Given the description of an element on the screen output the (x, y) to click on. 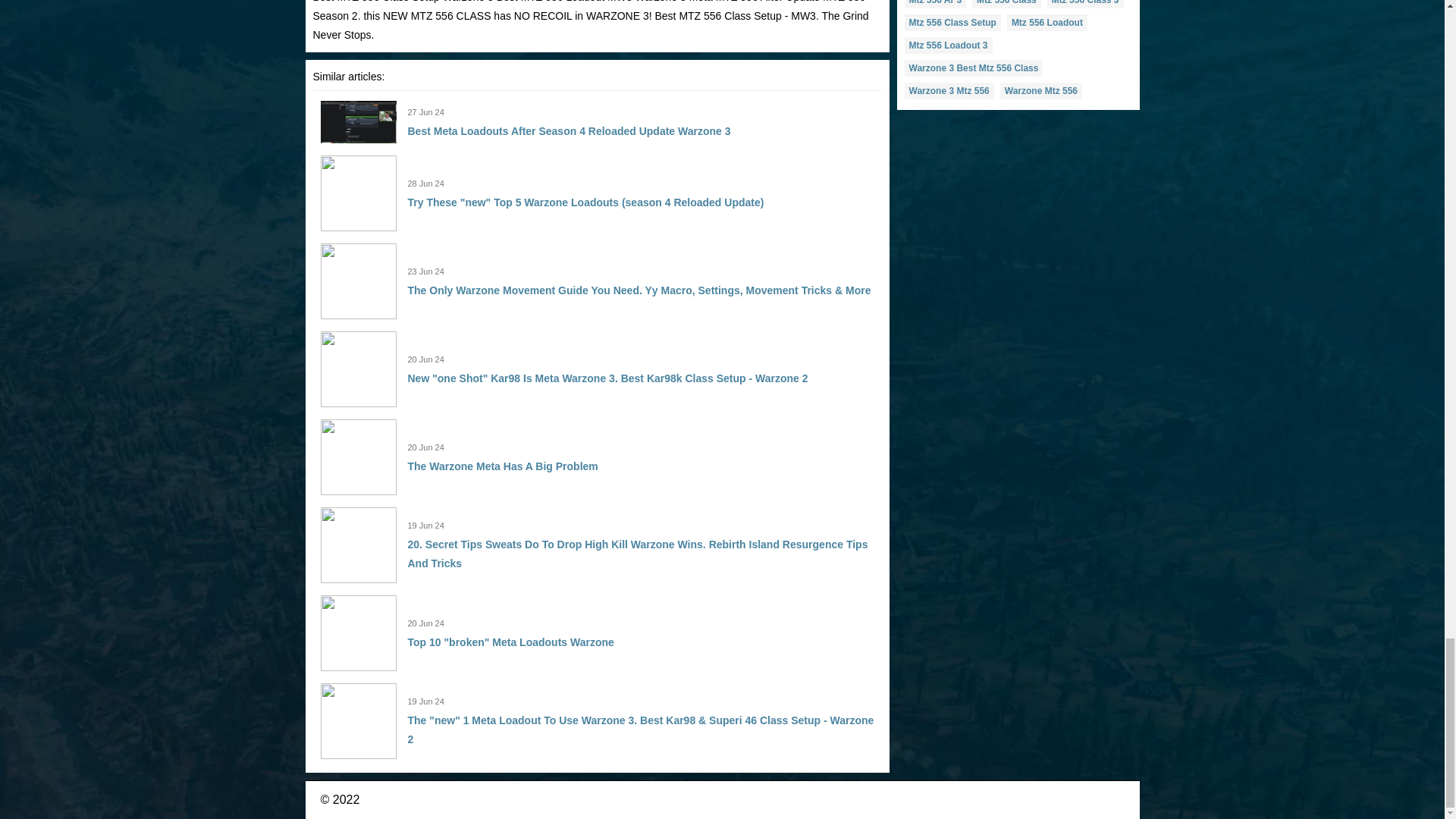
Top 10 "broken" Meta Loadouts Warzone (510, 642)
Best Meta Loadouts After Season 4 Reloaded Update Warzone 3 (568, 131)
The Warzone Meta Has A Big Problem (502, 466)
